Given the description of an element on the screen output the (x, y) to click on. 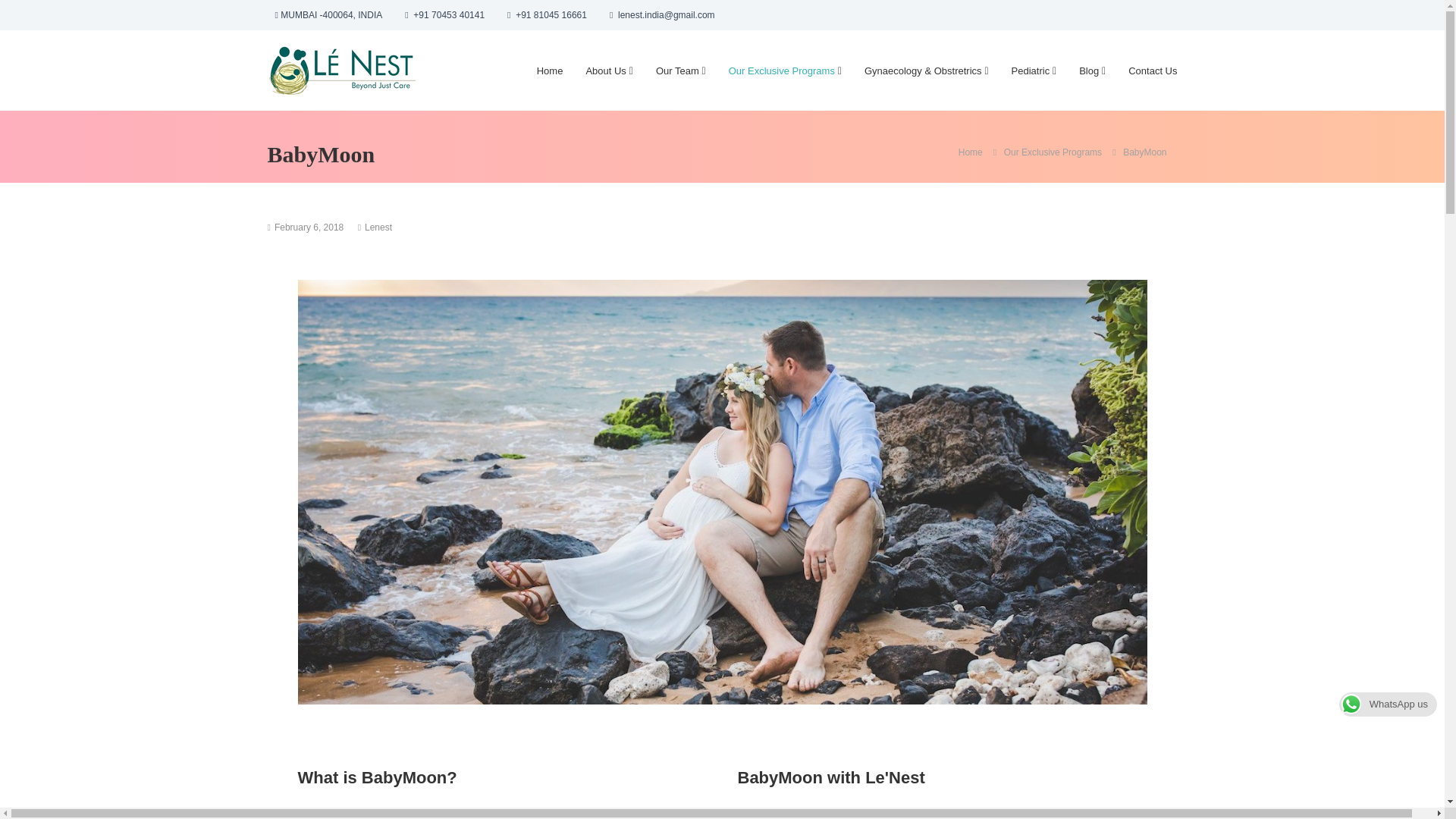
Our Exclusive Programs (781, 70)
Pediatric (1030, 70)
Home (969, 151)
Home (550, 70)
About Us (605, 70)
Our Team (677, 70)
